Given the description of an element on the screen output the (x, y) to click on. 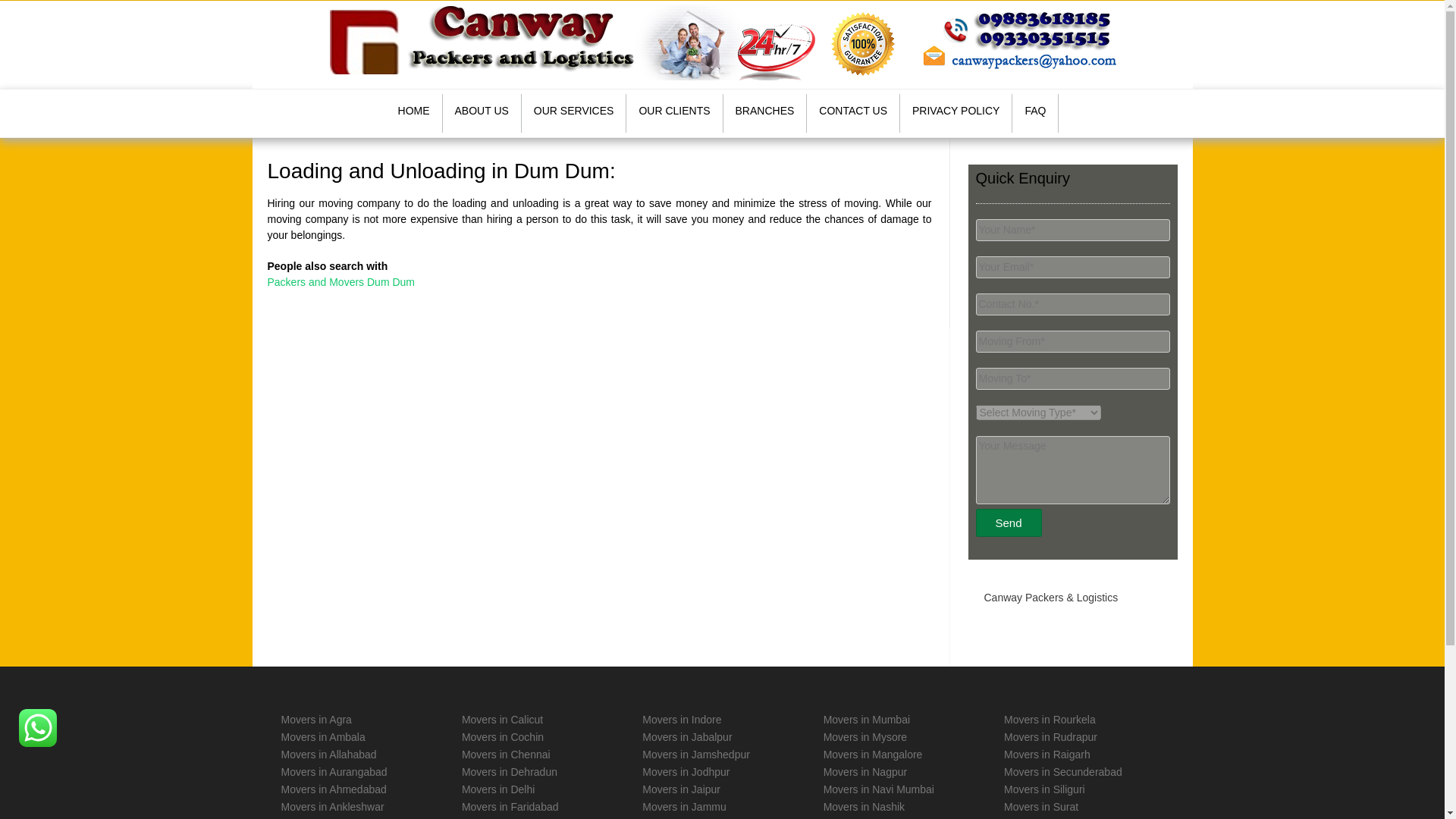
Movers in Aurangabad (334, 771)
Send (1008, 522)
Movers in Agra (315, 719)
BRANCHES (765, 113)
Packers Aurangabad (334, 771)
Packers and Movers Dum Dum (340, 282)
Movers in Chennai (505, 754)
Movers in Goa (496, 818)
FAQ (1034, 113)
Movers in Faridabad (510, 806)
HOME (413, 113)
Movers in Allahabad (328, 754)
Packers Ankleshwar (332, 806)
Movers in Ahmedabad (333, 788)
